Given the description of an element on the screen output the (x, y) to click on. 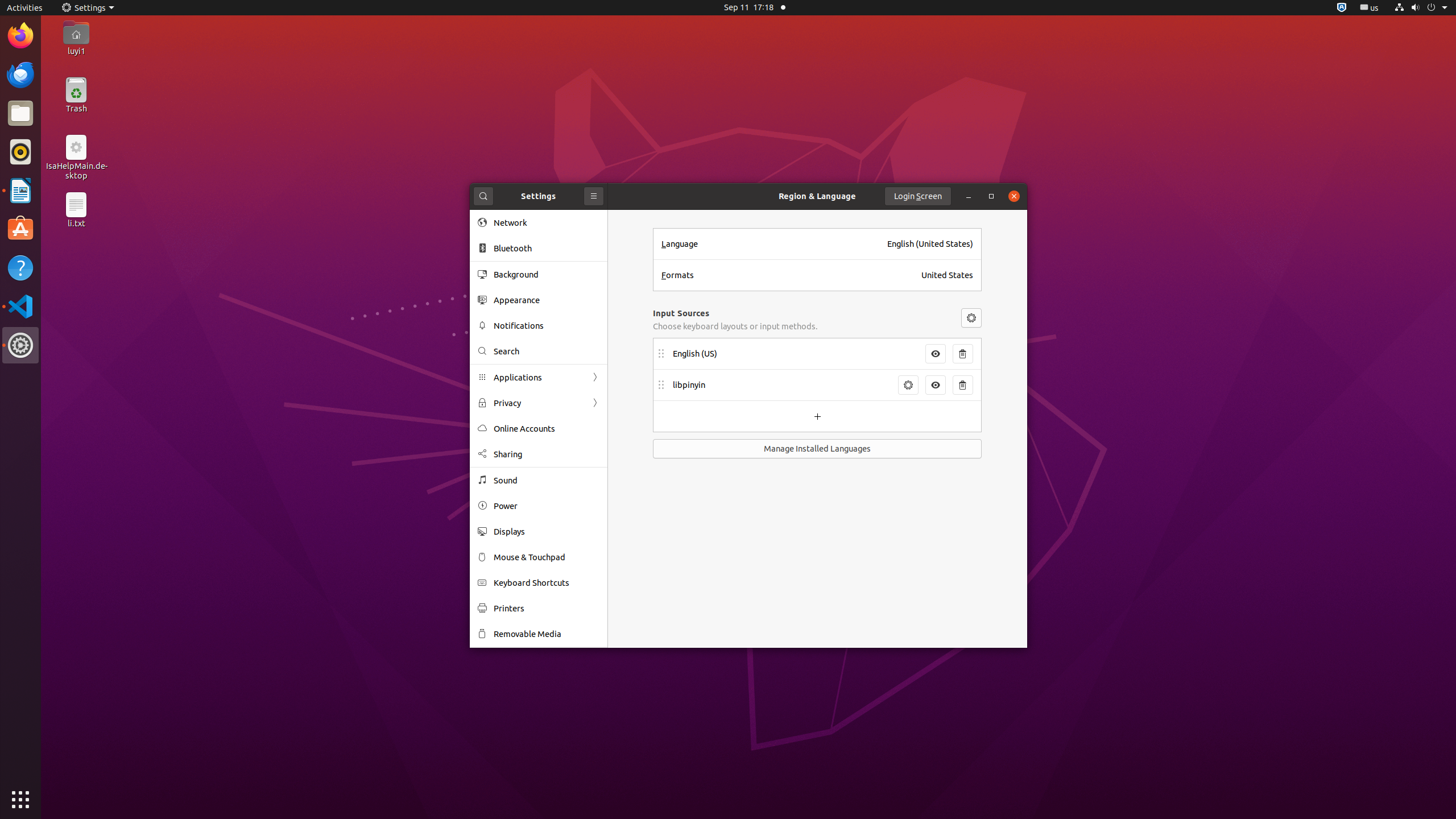
Visual Studio Code Element type: push-button (20, 306)
Show Applications Element type: toggle-button (20, 799)
Login Screen Element type: toggle-button (917, 196)
Search Element type: toggle-button (483, 196)
Help Element type: push-button (20, 267)
